Given the description of an element on the screen output the (x, y) to click on. 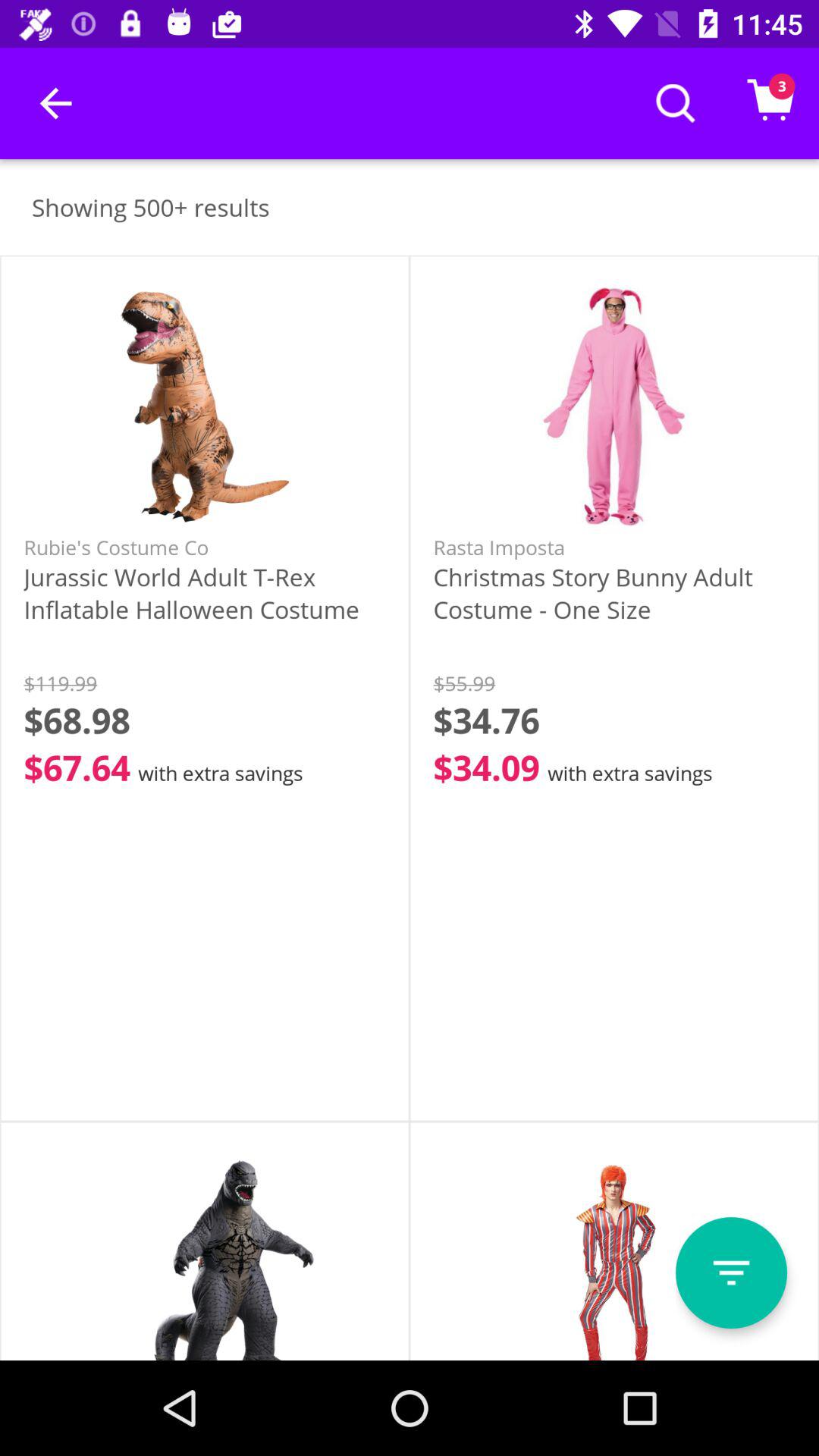
click item below with extra savings icon (731, 1272)
